Given the description of an element on the screen output the (x, y) to click on. 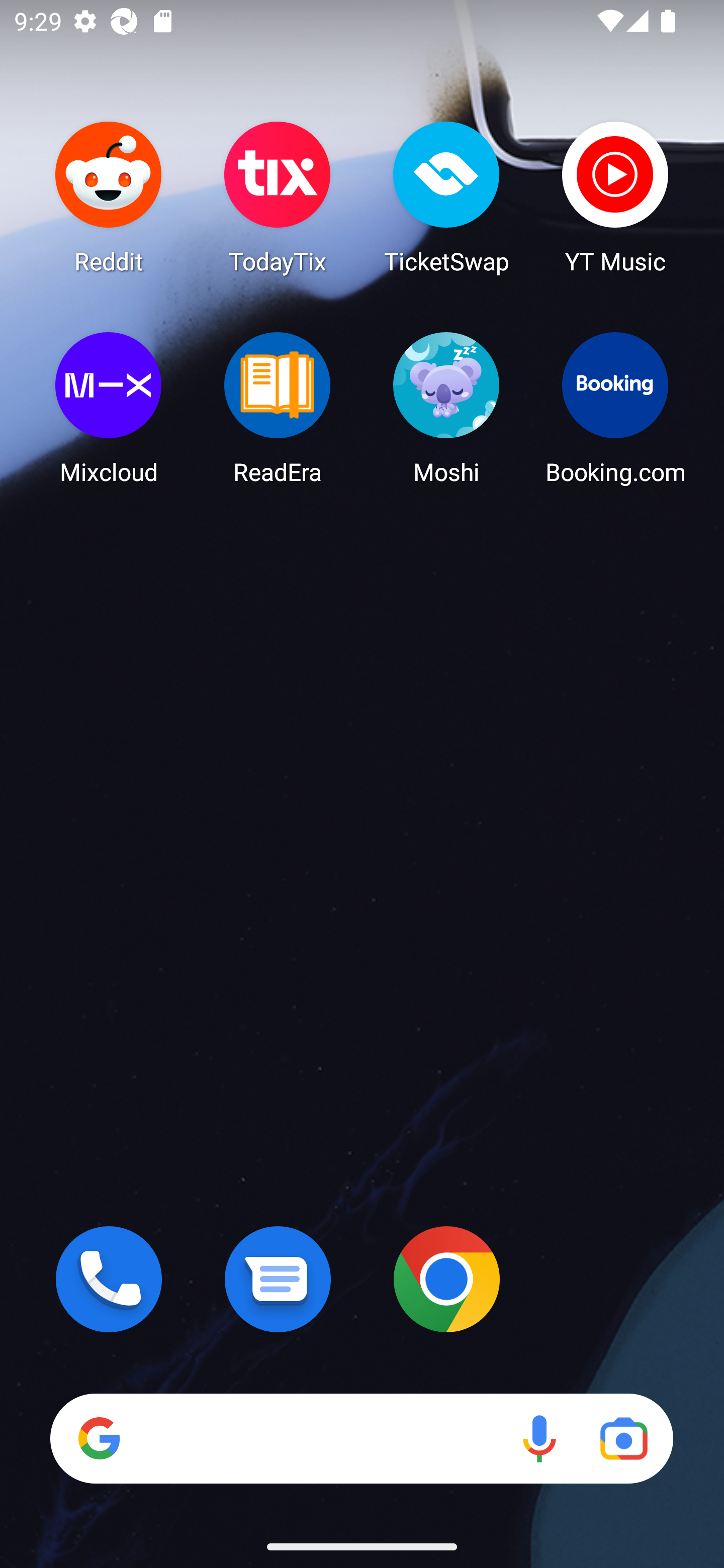
Reddit (108, 196)
TodayTix (277, 196)
TicketSwap (445, 196)
YT Music (615, 196)
Mixcloud (108, 407)
ReadEra (277, 407)
Moshi (445, 407)
Booking.com (615, 407)
Phone (108, 1279)
Messages (277, 1279)
Chrome (446, 1279)
Search Voice search Google Lens (361, 1438)
Voice search (539, 1438)
Google Lens (623, 1438)
